Given the description of an element on the screen output the (x, y) to click on. 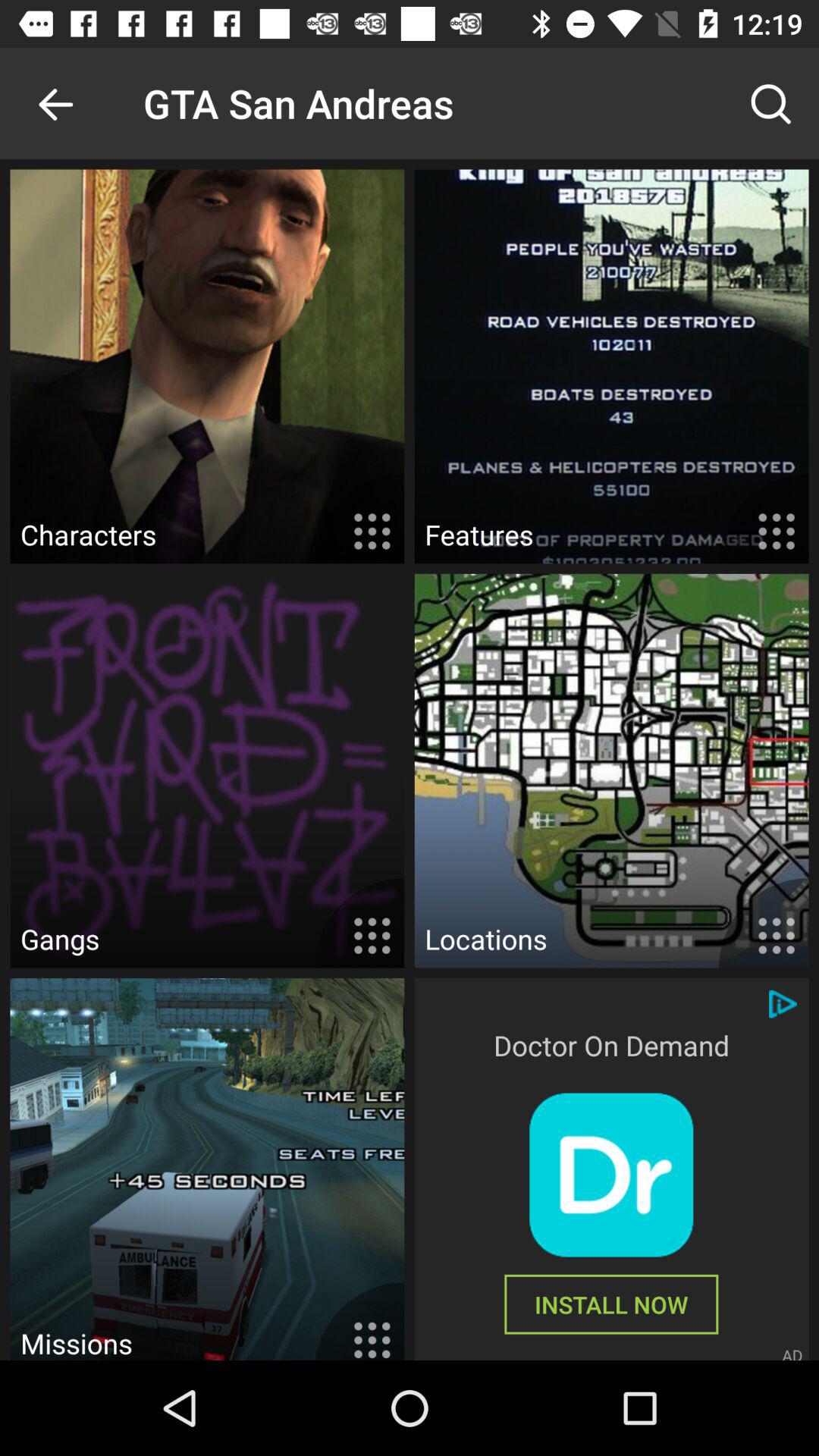
people go back info player go back info gangs go bac maps location go back ambulance (611, 1174)
